Given the description of an element on the screen output the (x, y) to click on. 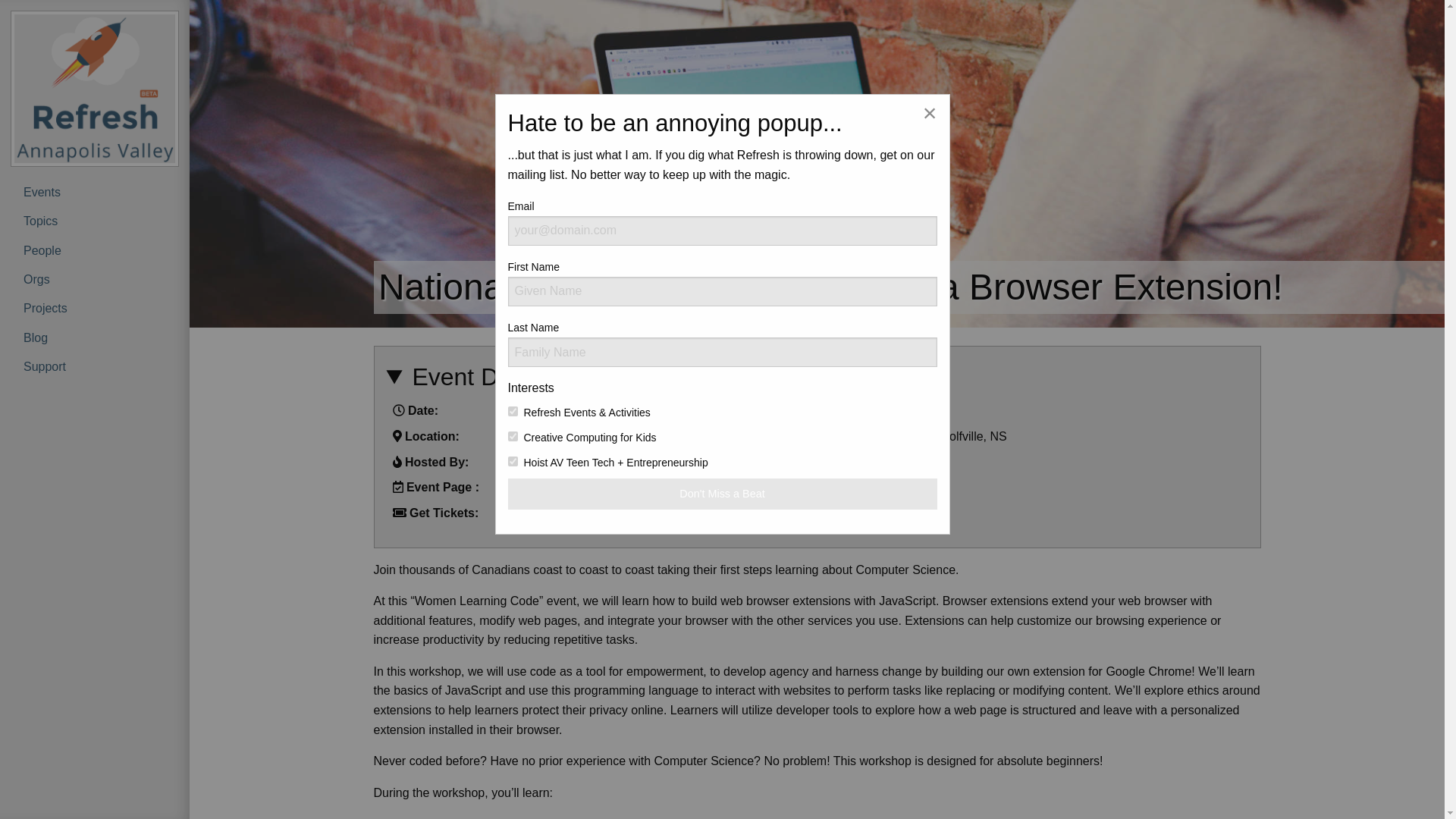
Don't Miss a Beat (722, 493)
Eventbright (536, 512)
Refresh AV Meetups (561, 461)
on (513, 461)
on (513, 436)
Events (94, 192)
Don't Miss a Beat (722, 493)
Projects (94, 308)
People (94, 249)
Support (94, 366)
Orgs (94, 279)
Blog (94, 337)
Facebook (532, 486)
on (513, 411)
Topics (94, 221)
